Given the description of an element on the screen output the (x, y) to click on. 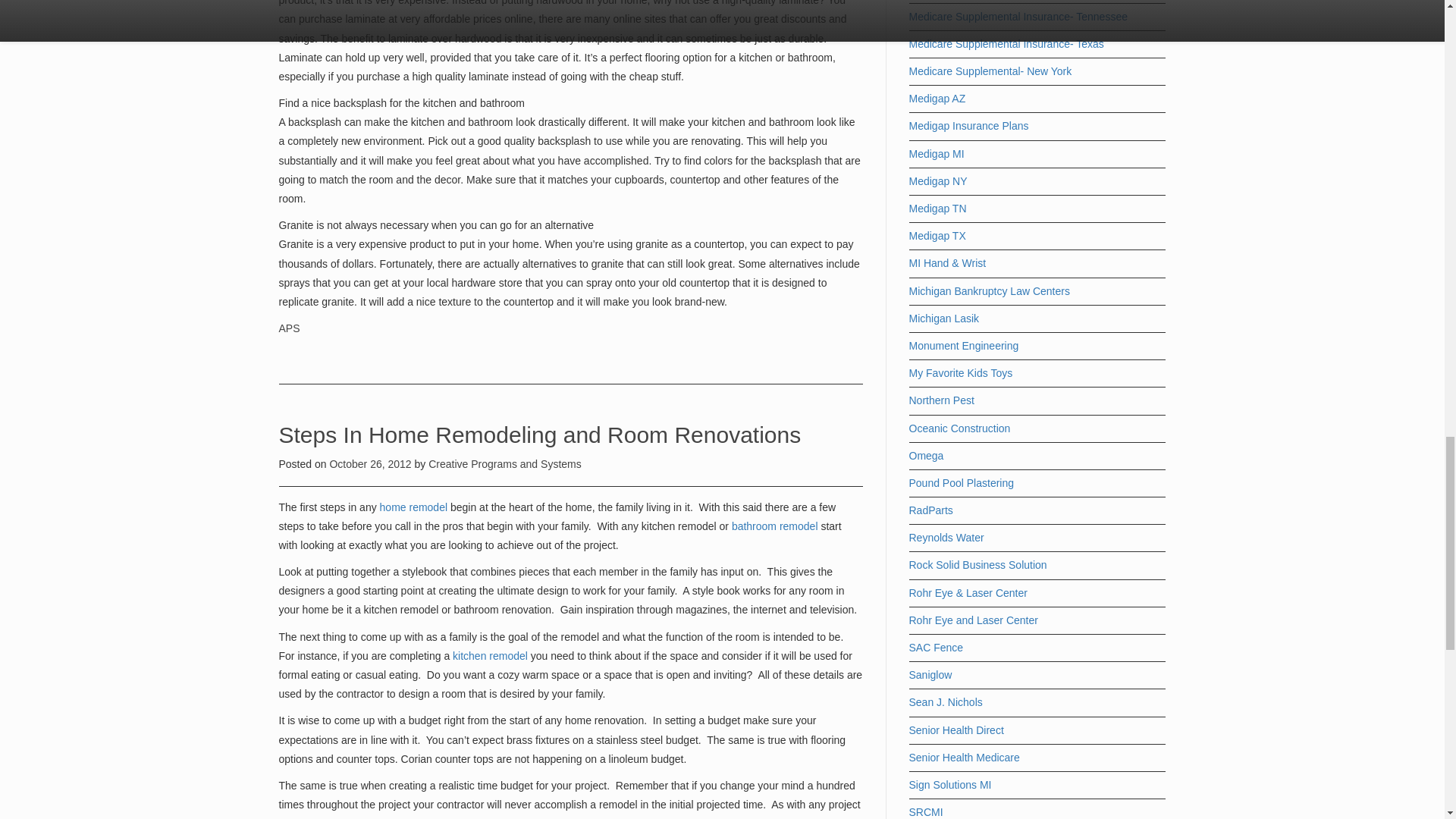
Steps In Home Remodeling and Room Renovations (540, 434)
Creative Programs and Systems (504, 463)
October 26, 2012 (371, 463)
bathroom remodel (775, 526)
APS (289, 328)
home remodel (414, 506)
6:27 pm (371, 463)
kitchen remodel (491, 655)
